Given the description of an element on the screen output the (x, y) to click on. 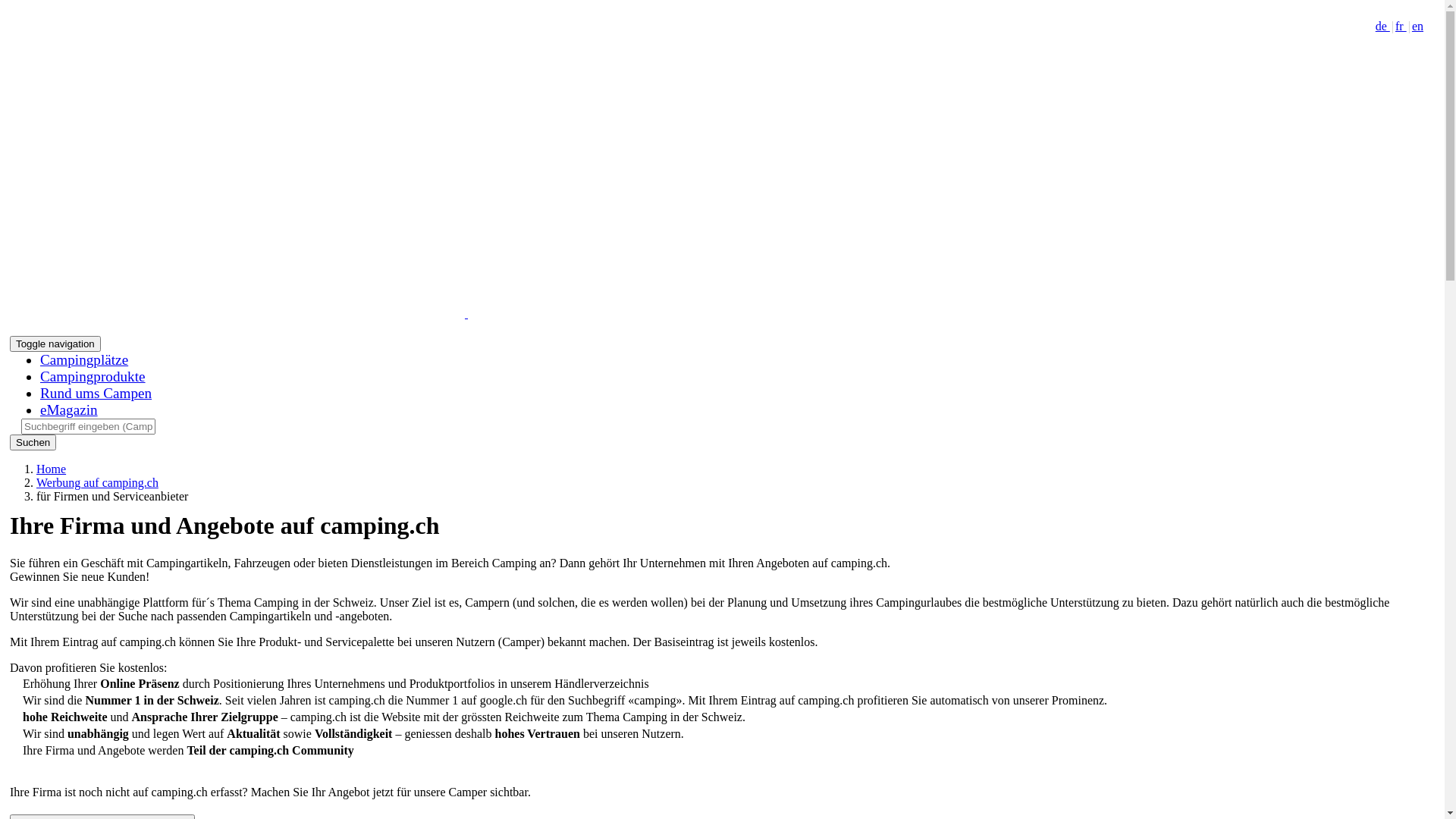
Global Search Element type: hover (88, 426)
eMagazin Element type: text (68, 409)
fr Element type: text (1400, 25)
Home Element type: text (50, 468)
Toggle navigation Element type: text (54, 343)
Werbung auf camping.ch Element type: text (97, 482)
Suchen Element type: text (32, 442)
en Element type: text (1417, 25)
Campingprodukte Element type: text (92, 376)
Rund ums Campen Element type: text (95, 393)
de Element type: text (1382, 25)
